Given the description of an element on the screen output the (x, y) to click on. 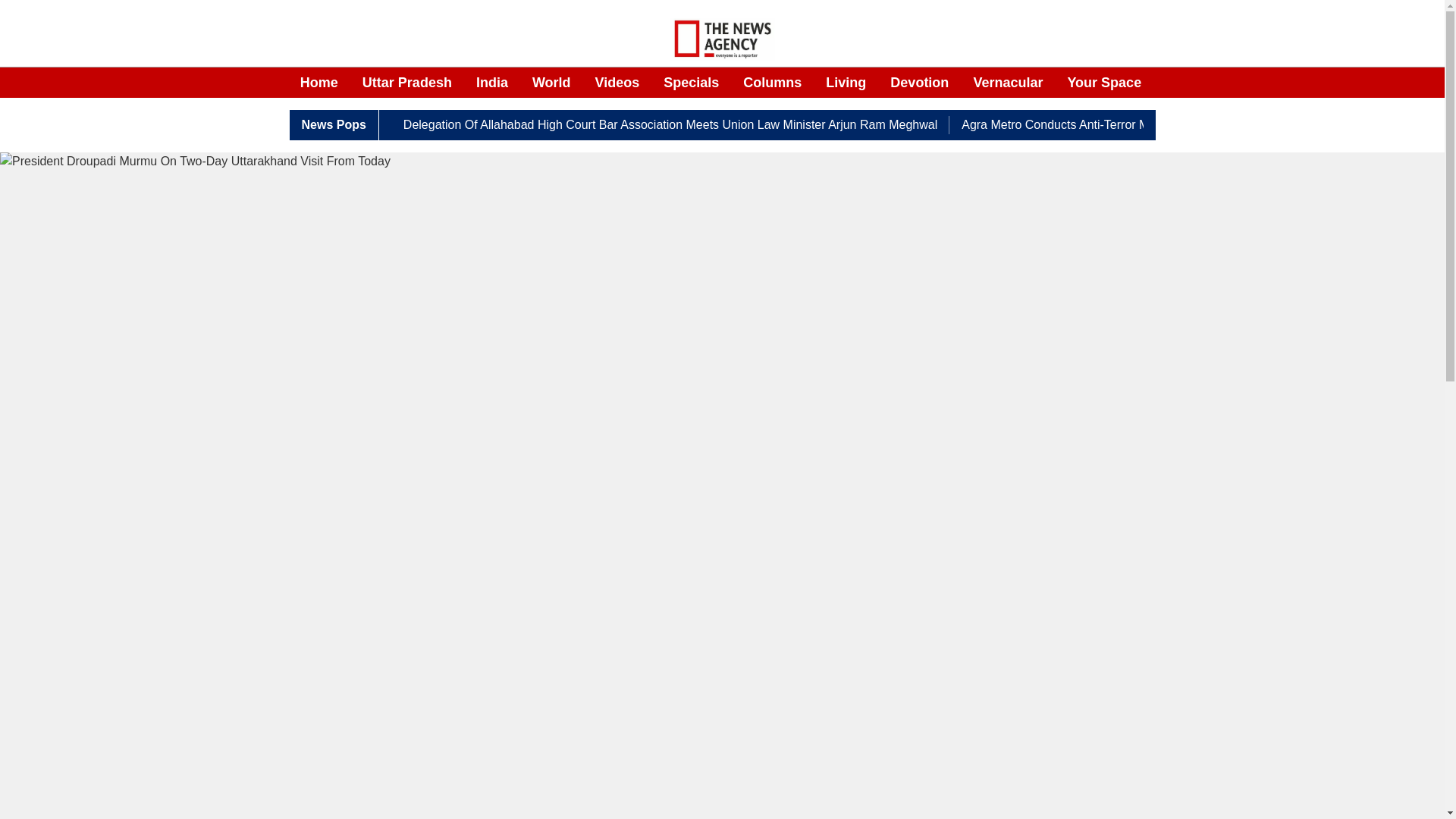
Living (845, 82)
Specials (691, 82)
India (492, 82)
Vernacular (1007, 82)
Devotion (919, 82)
Columns (772, 82)
Uttar Pradesh (406, 82)
Videos (617, 82)
Your Space (1104, 82)
